Given the description of an element on the screen output the (x, y) to click on. 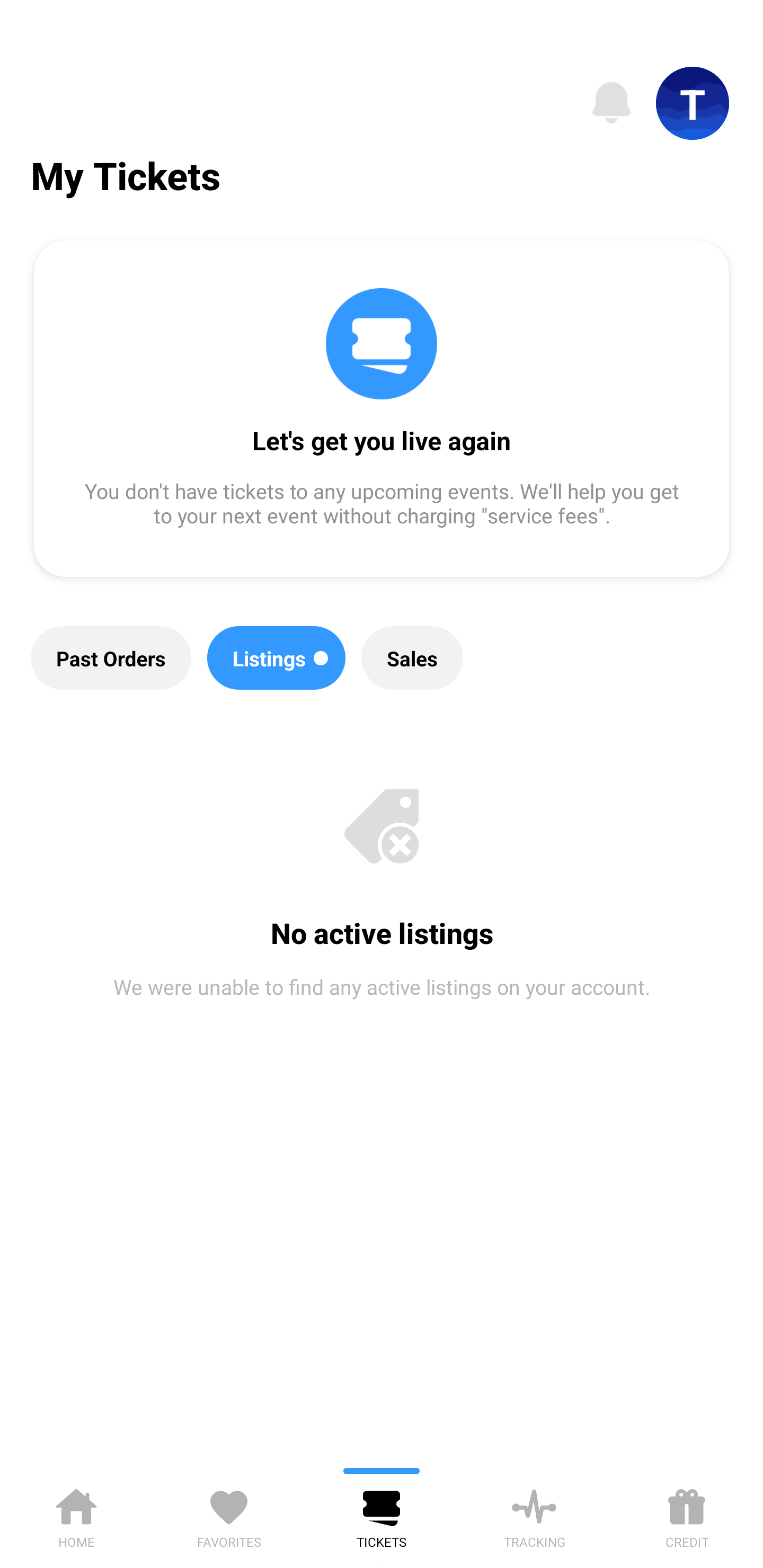
T (692, 103)
Past Orders (110, 657)
Listings (276, 657)
Sales (412, 657)
HOME (76, 1515)
FAVORITES (228, 1515)
TICKETS (381, 1515)
TRACKING (533, 1515)
CREDIT (686, 1515)
